Given the description of an element on the screen output the (x, y) to click on. 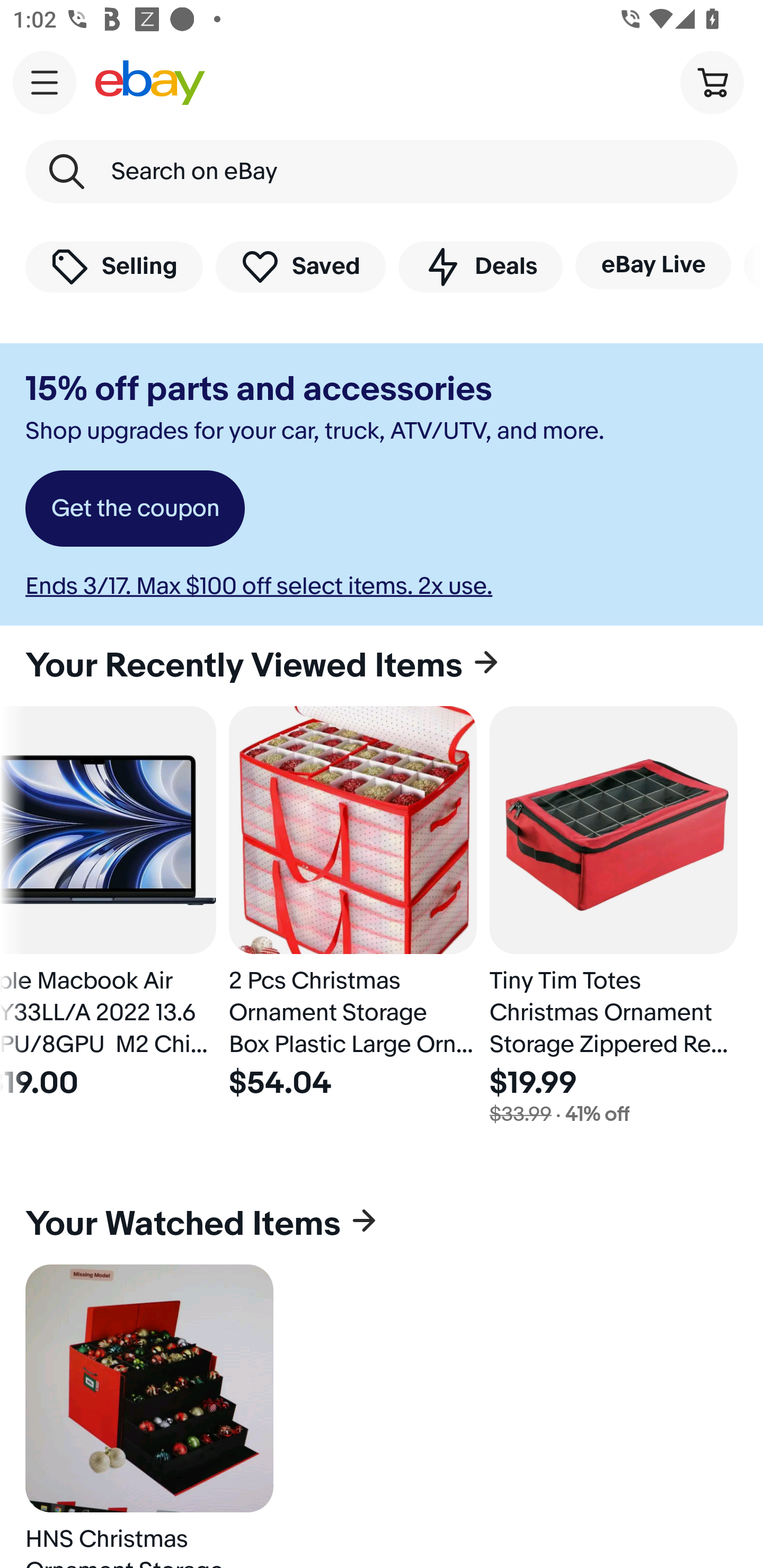
Main navigation, open (44, 82)
Cart button shopping cart (711, 81)
Search on eBay Search Keyword Search on eBay (381, 171)
Selling (113, 266)
Saved (300, 266)
Deals (480, 266)
eBay Live (652, 264)
15% off parts and accessories (258, 389)
Get the coupon (134, 508)
Ends 3/17. Max $100 off select items. 2x use. (258, 586)
Your Recently Viewed Items   (381, 665)
Your Watched Items   (381, 1223)
